Given the description of an element on the screen output the (x, y) to click on. 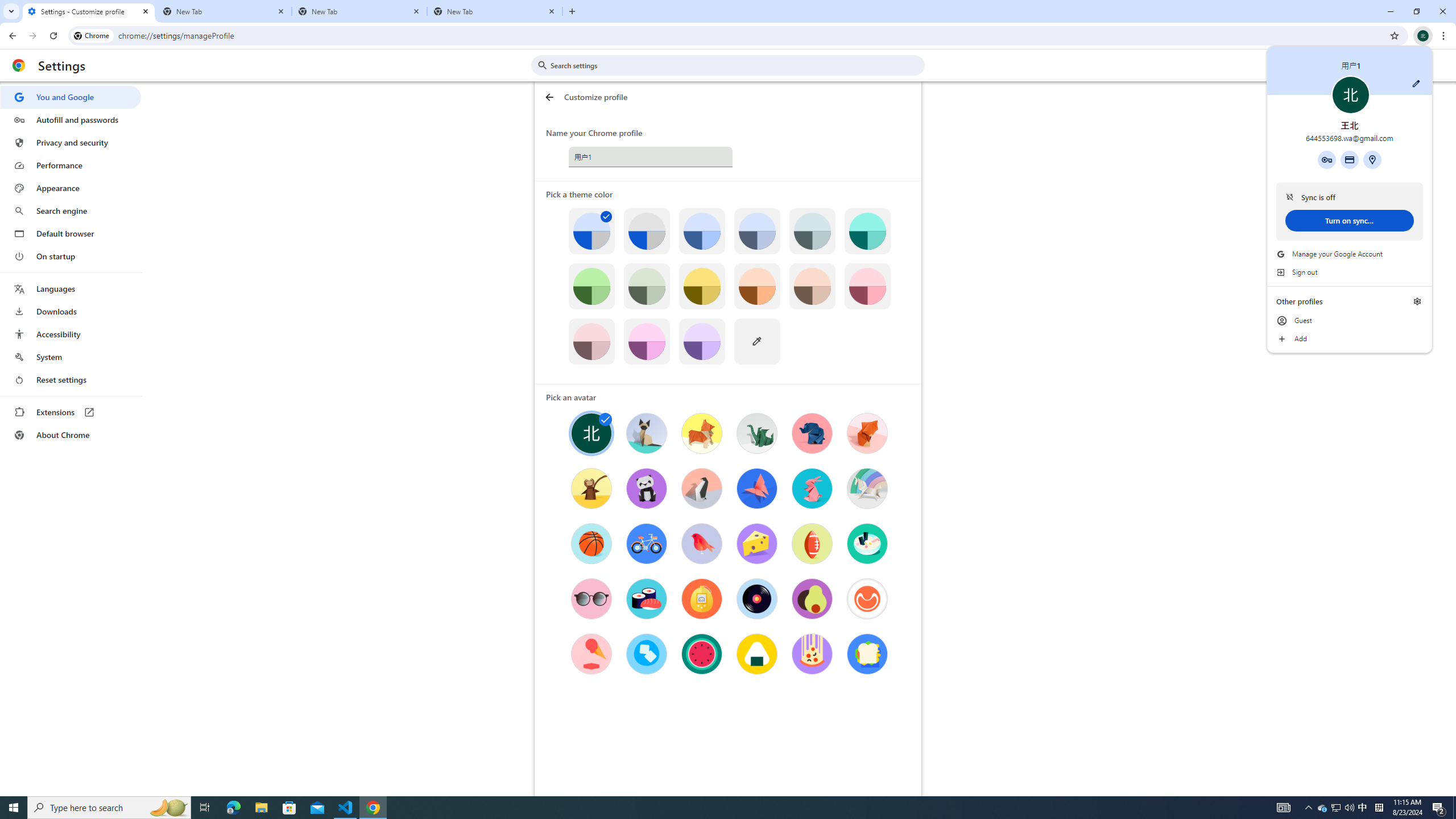
Google Chrome - 1 running window (373, 807)
Action Center, 2 new notifications (1439, 807)
Microsoft Store (289, 807)
Default browser (70, 233)
Manage your Google Account (1349, 253)
Appearance (70, 187)
Start (13, 807)
Addresses and more (1371, 159)
Guest (1349, 321)
Sign out (1349, 272)
